Given the description of an element on the screen output the (x, y) to click on. 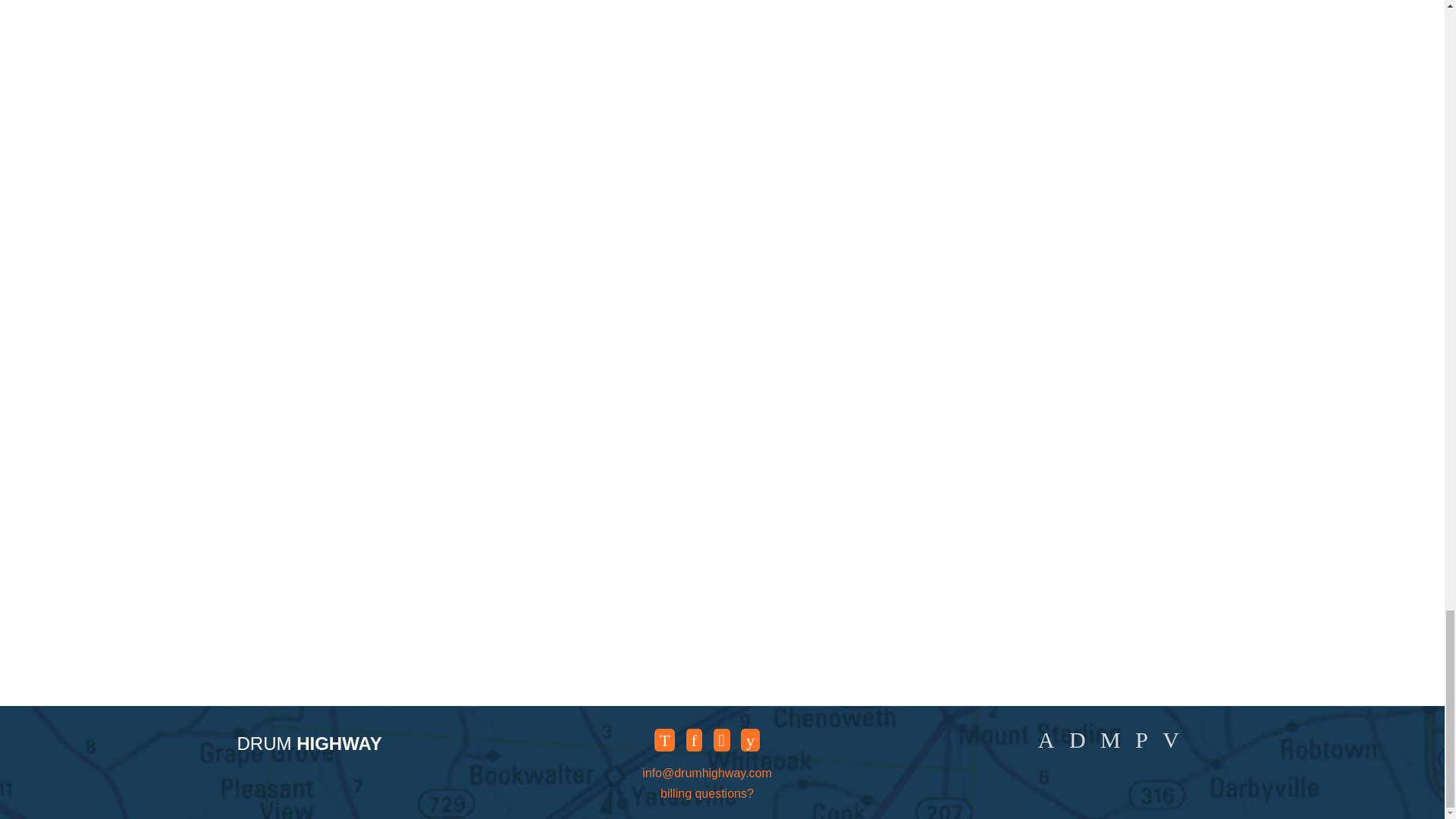
Drum Highway on Twitter (664, 739)
Drum Highway on Instagram (721, 739)
Drum Highway on Facebook (693, 739)
Drum Highway on YouTube (750, 739)
